Given the description of an element on the screen output the (x, y) to click on. 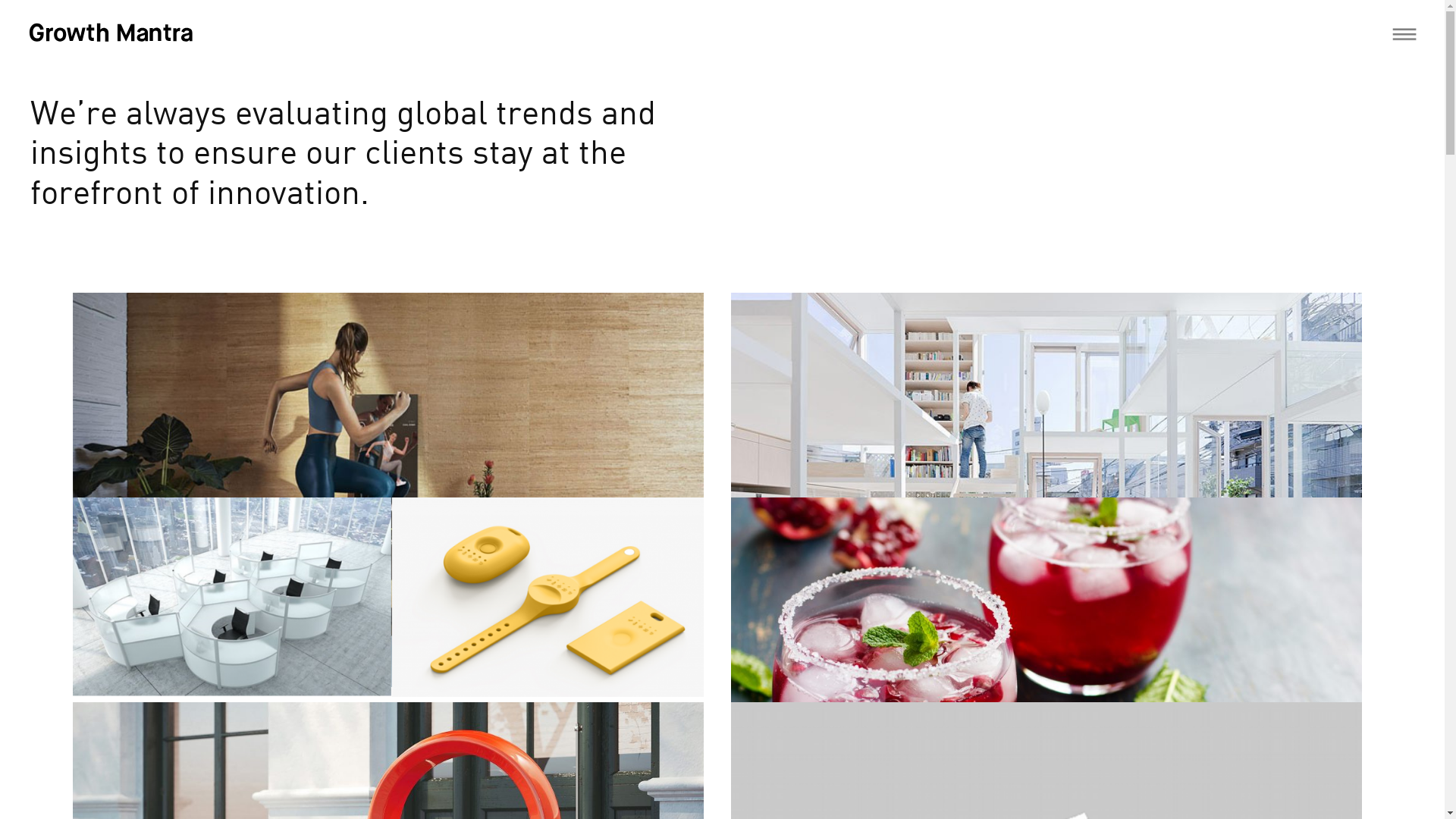
Growth Mantra Commercial Creativity Element type: text (118, 36)
CHEERS! DRINKING BETTER, DRINKING LESS? Element type: text (961, 765)
